Given the description of an element on the screen output the (x, y) to click on. 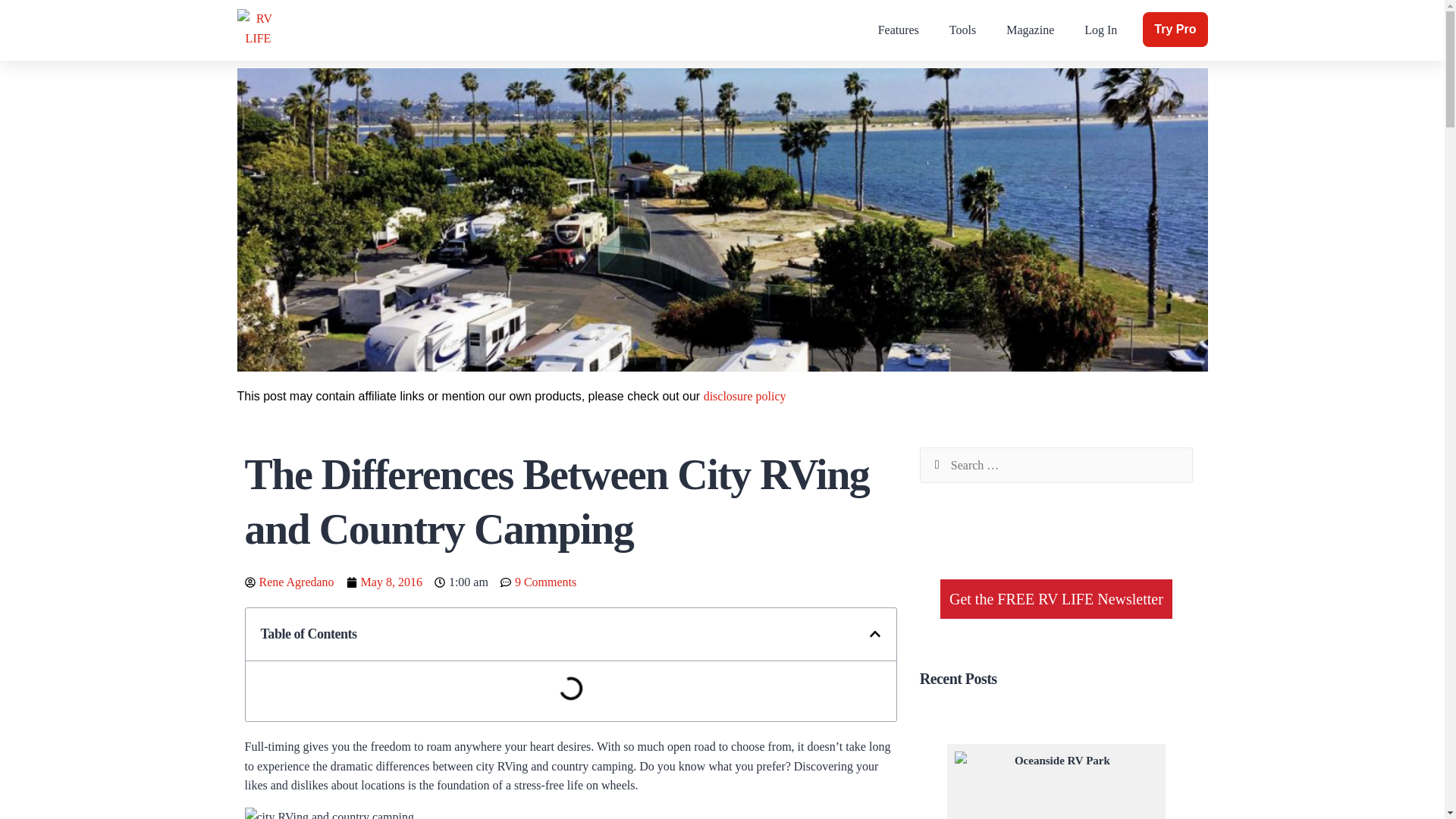
Log In (1100, 30)
Tools (962, 30)
Magazine (1029, 30)
Features (898, 30)
